Given the description of an element on the screen output the (x, y) to click on. 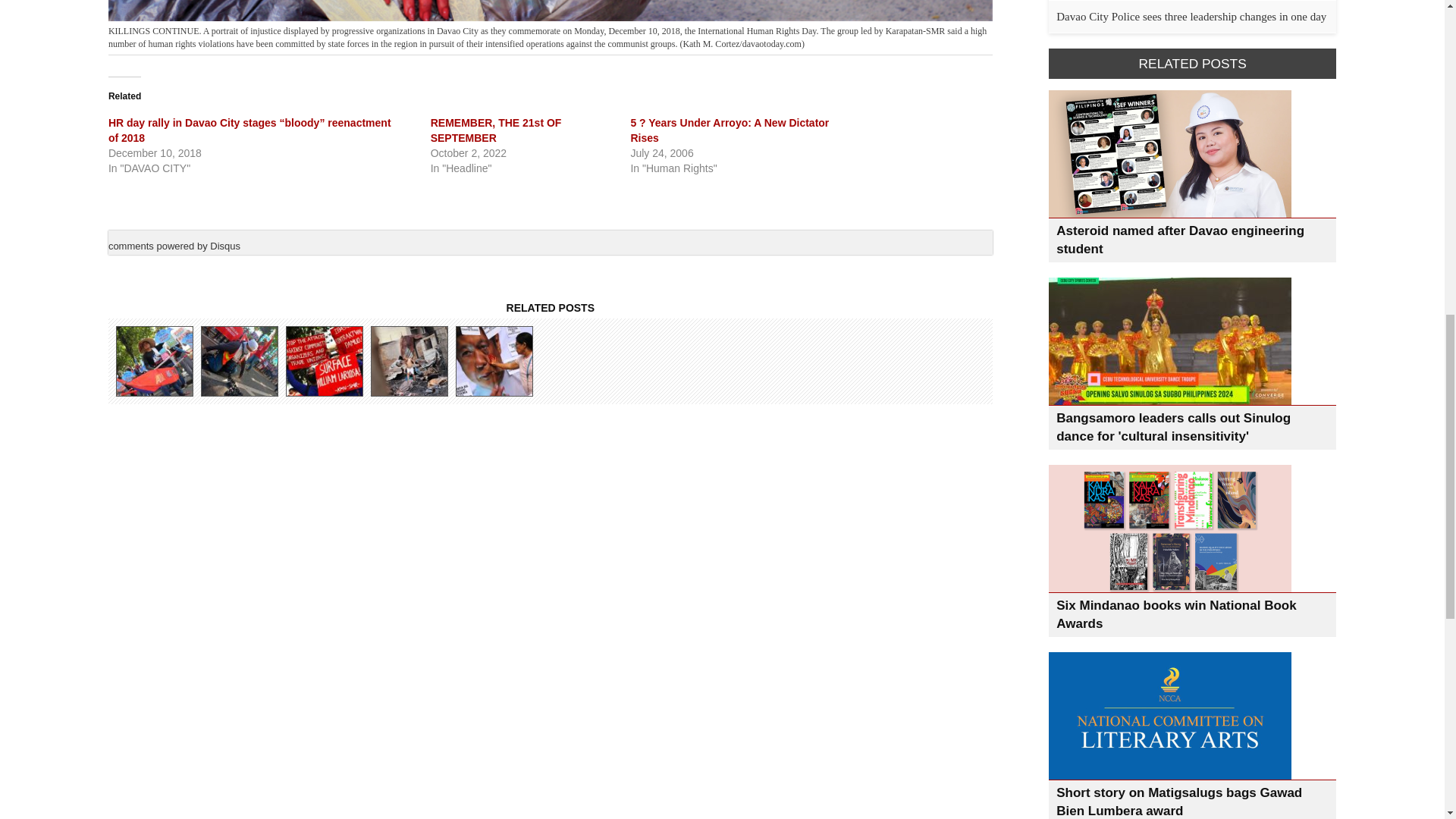
Asteroid named after Davao engineering student (1180, 239)
LABOR DAY (323, 360)
comments powered by Disqus (173, 246)
REMEMBER, THE 21st OF SEPTEMBER (496, 130)
ATIN ANG PINAS (154, 360)
5 ? Years Under Arroyo: A New Dictator Rises (729, 130)
LITTLE BOY (408, 360)
REMEMBER, THE 21st OF SEPTEMBER (496, 130)
BREAK THE CHAIN (238, 360)
Davao City Police sees three leadership changes in one day (1191, 16)
5 ? Years Under Arroyo: A New Dictator Rises (729, 130)
SLAP AGAINST CHACHA (493, 360)
